Given the description of an element on the screen output the (x, y) to click on. 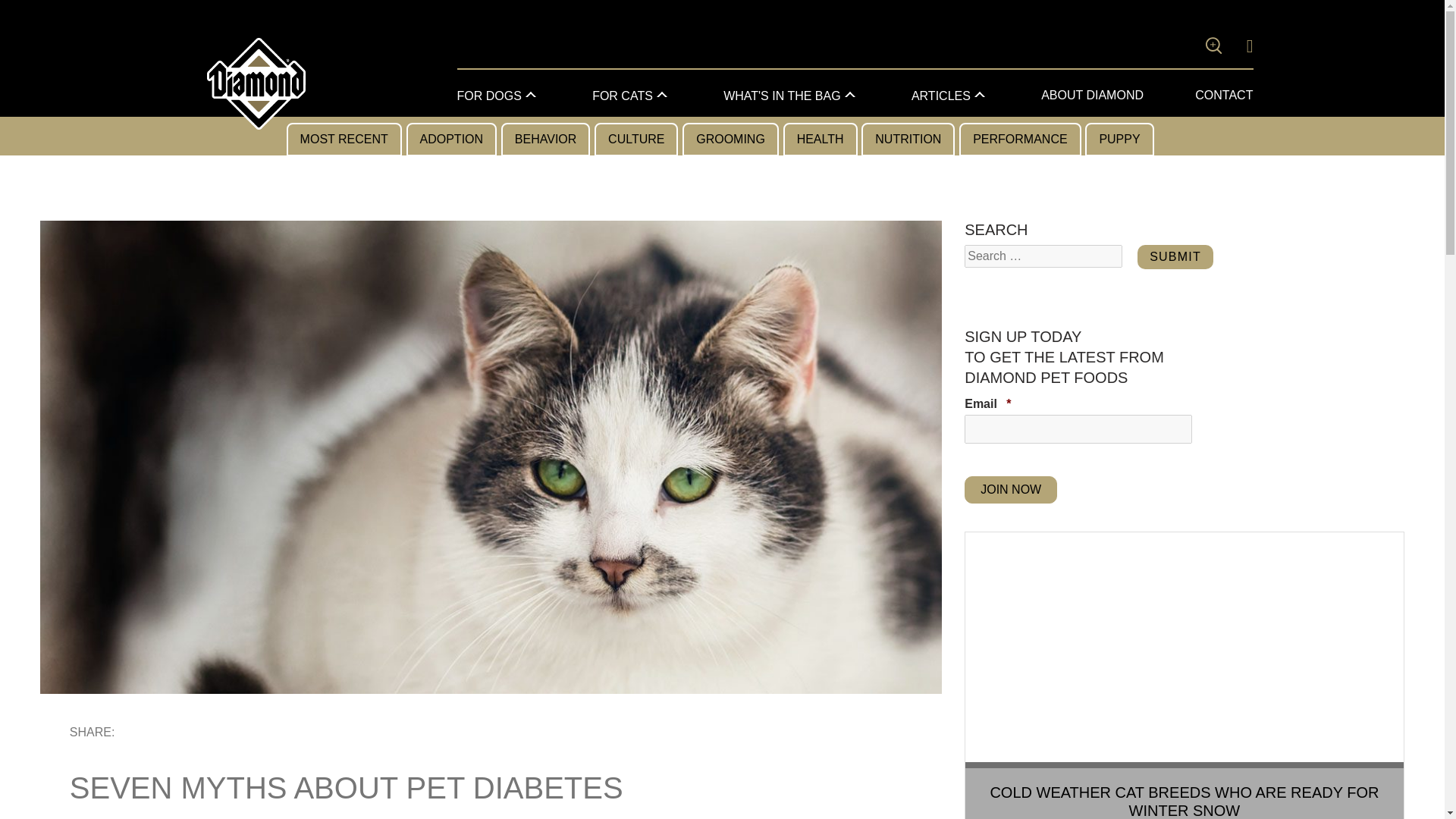
Puppy (1118, 139)
Search (1187, 48)
Grooming (730, 139)
Culture (636, 139)
Behavior (545, 139)
Adoption (451, 139)
Health (820, 139)
share (184, 735)
Most recent (343, 139)
Nutrition (908, 139)
Submit (1174, 256)
Where to Buy (1243, 46)
Join Now (1010, 489)
Performance (1019, 139)
